Given the description of an element on the screen output the (x, y) to click on. 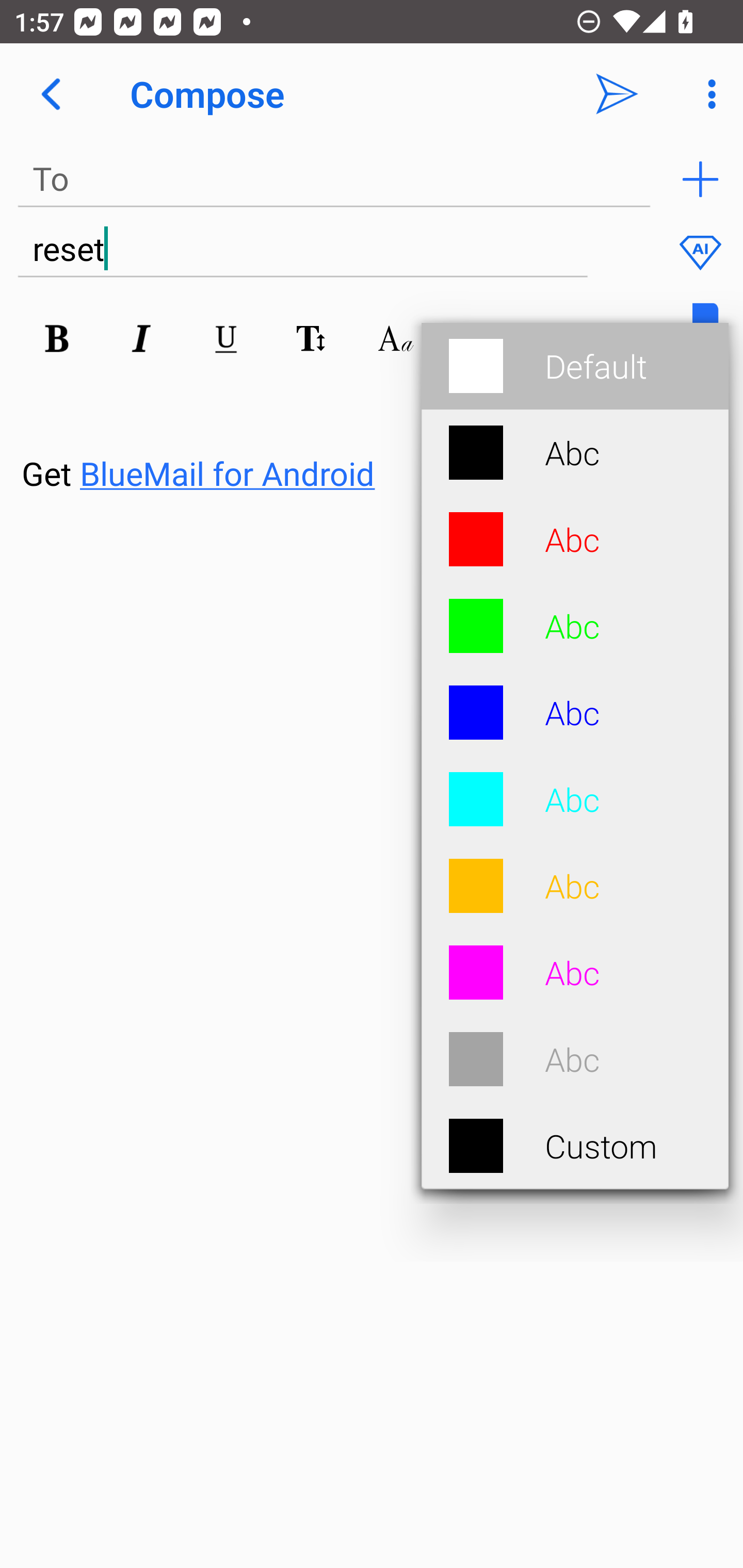
Default (574, 366)
Abc (574, 452)
Abc (574, 539)
Abc (574, 626)
Abc (574, 712)
Abc (574, 799)
Abc (574, 886)
Abc (574, 972)
Abc (574, 1059)
Custom (574, 1146)
